Given the description of an element on the screen output the (x, y) to click on. 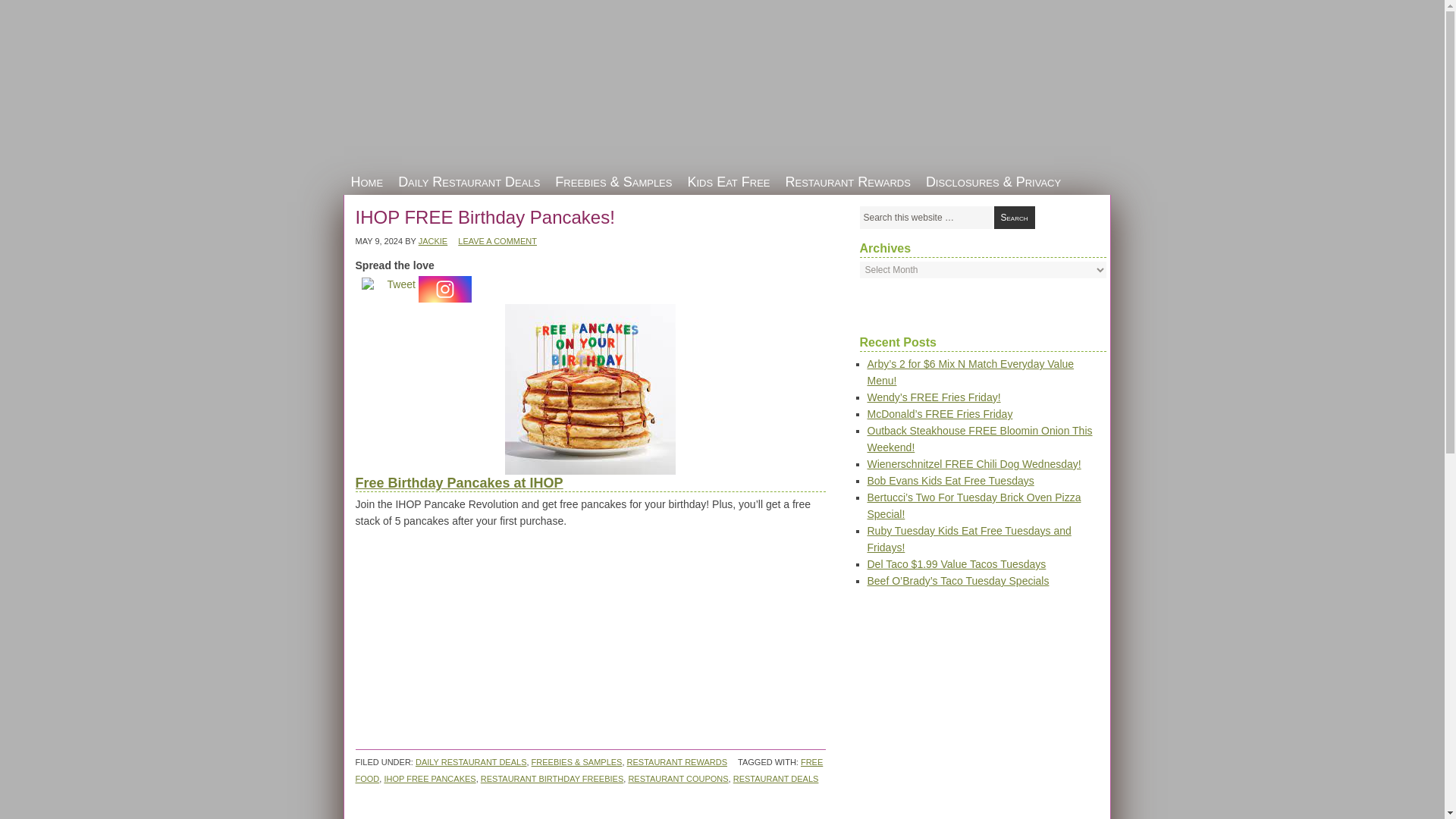
RESTAURANT DEALS (775, 777)
JACKIE (433, 240)
Search (1012, 217)
2024-05-09T10:00:39-07:00 (379, 240)
Restaurant Rewards (847, 181)
DAILY RESTAURANT DEALS (470, 761)
IHOP FREE PANCAKES (430, 777)
FREE FOOD (588, 769)
Kids Eat Free (728, 181)
Tweet (400, 284)
